Given the description of an element on the screen output the (x, y) to click on. 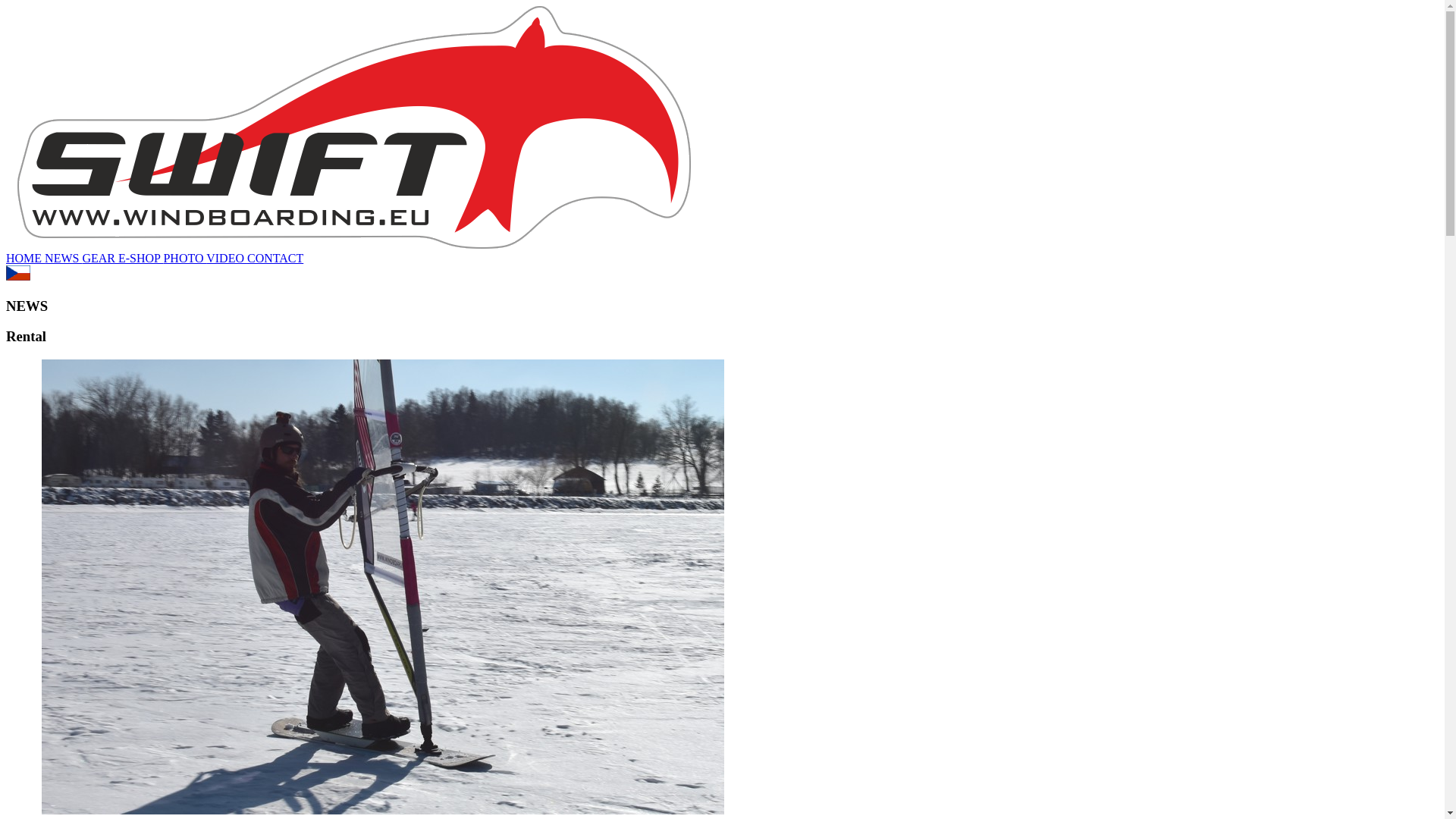
HOME (25, 257)
CONTACT (274, 257)
GEAR (99, 257)
NEWS (63, 257)
PHOTO (184, 257)
E-SHOP (140, 257)
VIDEO (226, 257)
